Given the description of an element on the screen output the (x, y) to click on. 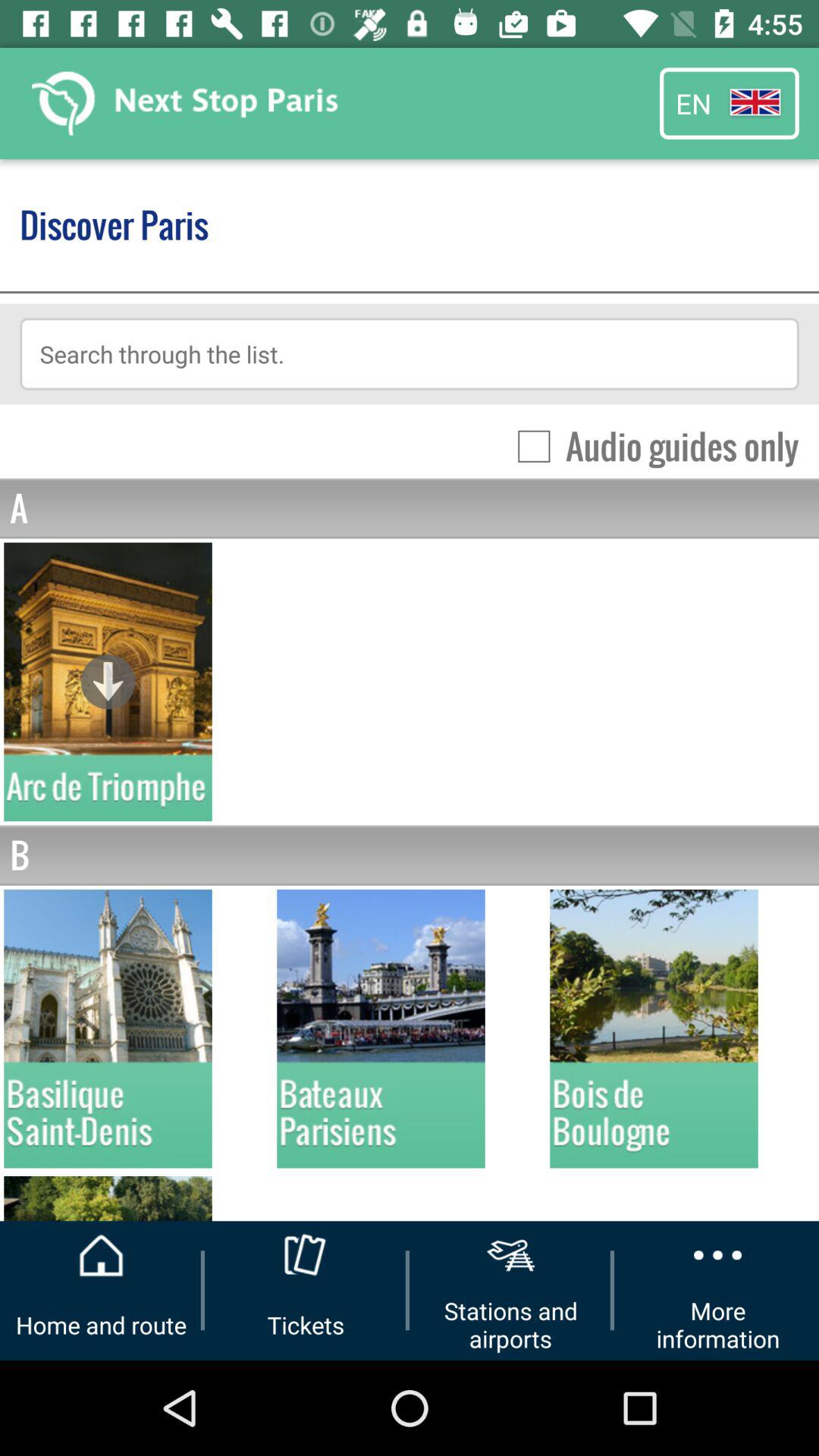
click icon above a (650, 446)
